Given the description of an element on the screen output the (x, y) to click on. 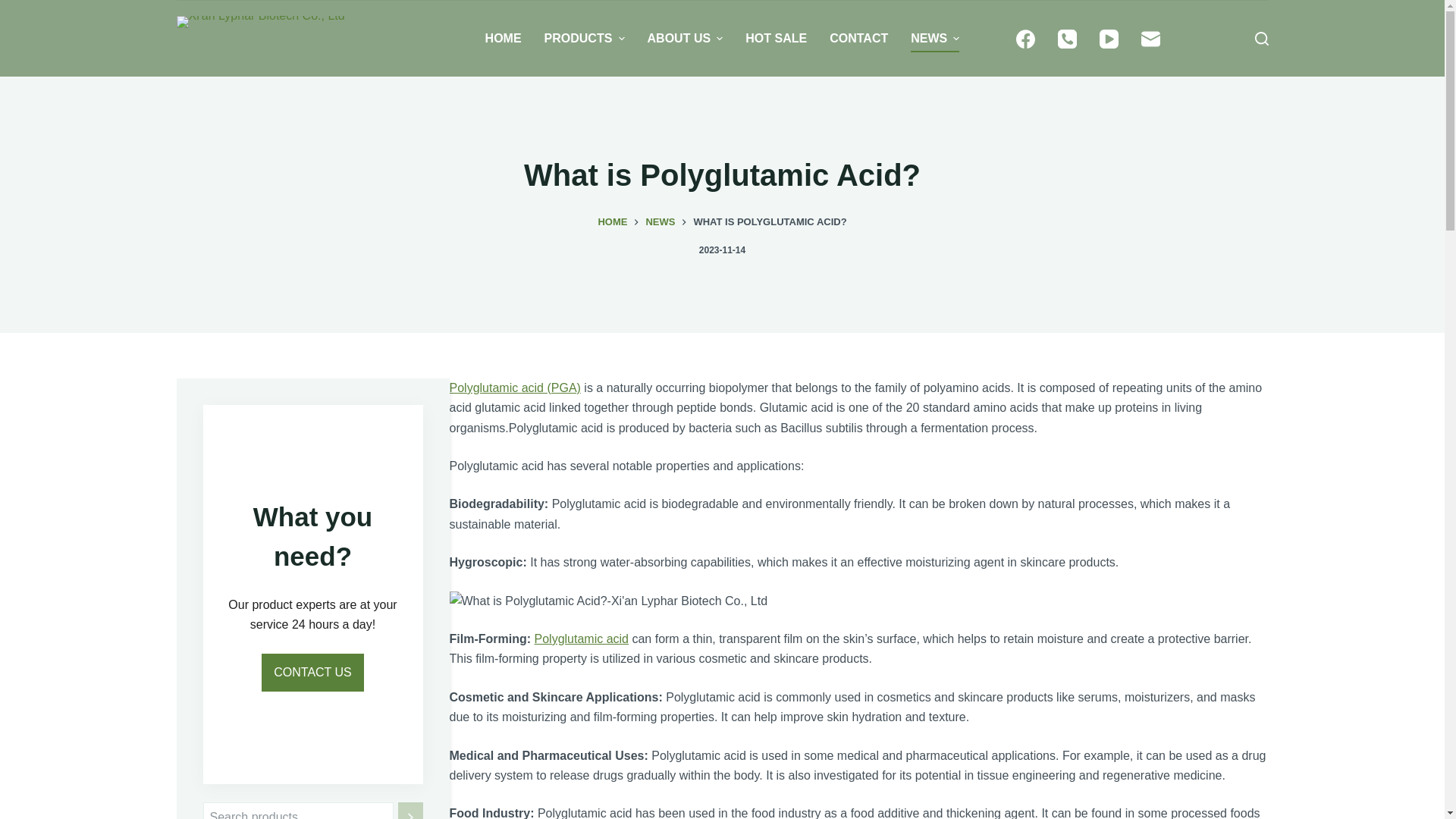
What is Polyglutamic Acid?-Xi'an Lyphar Biotech Co., Ltd (607, 600)
HOME (503, 38)
What is Polyglutamic Acid? (722, 175)
ABOUT US (685, 38)
Skip to content (15, 7)
PRODUCTS (584, 38)
